Given the description of an element on the screen output the (x, y) to click on. 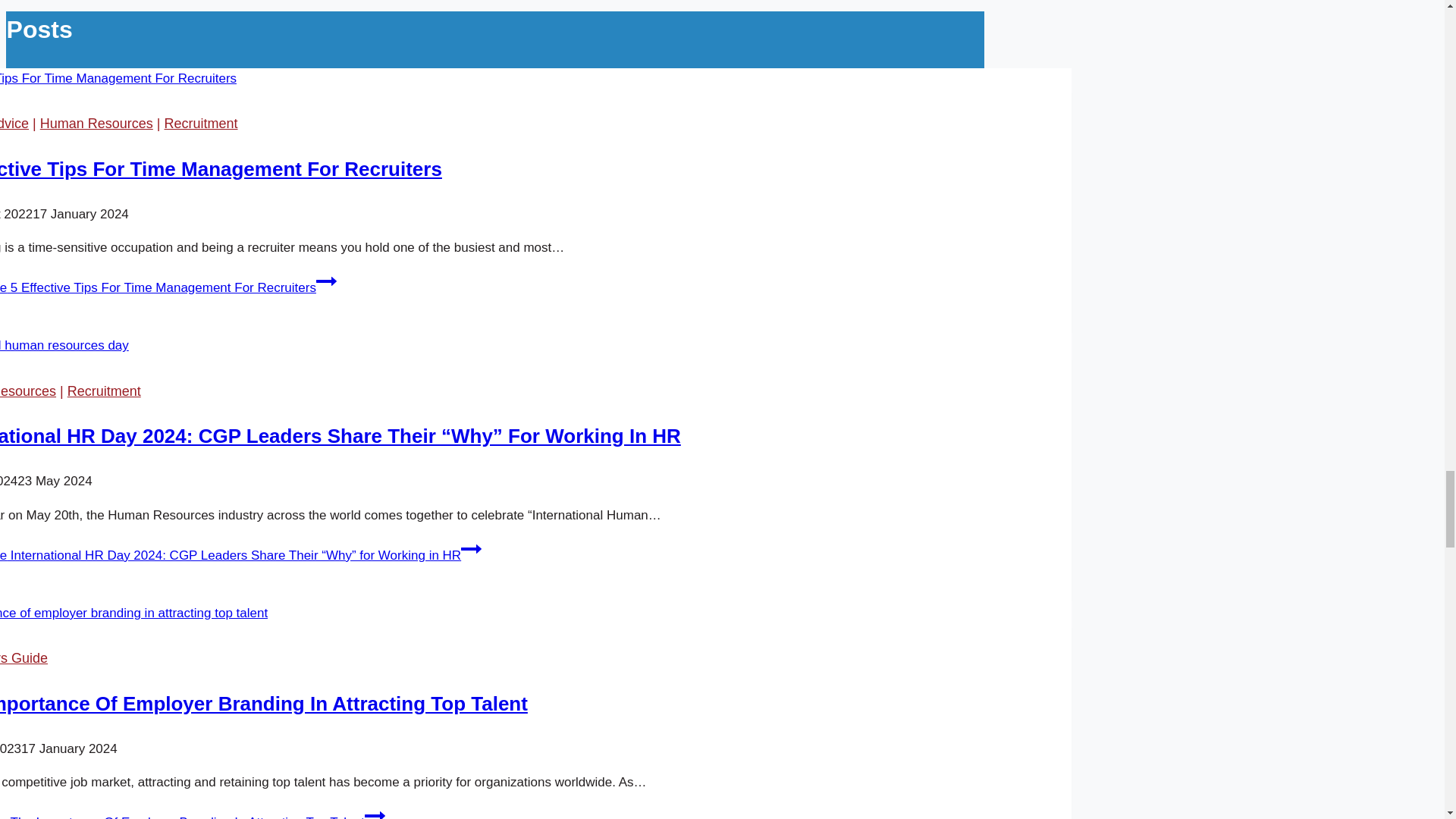
Continue (375, 812)
Continue (325, 281)
Continue (471, 548)
